Given the description of an element on the screen output the (x, y) to click on. 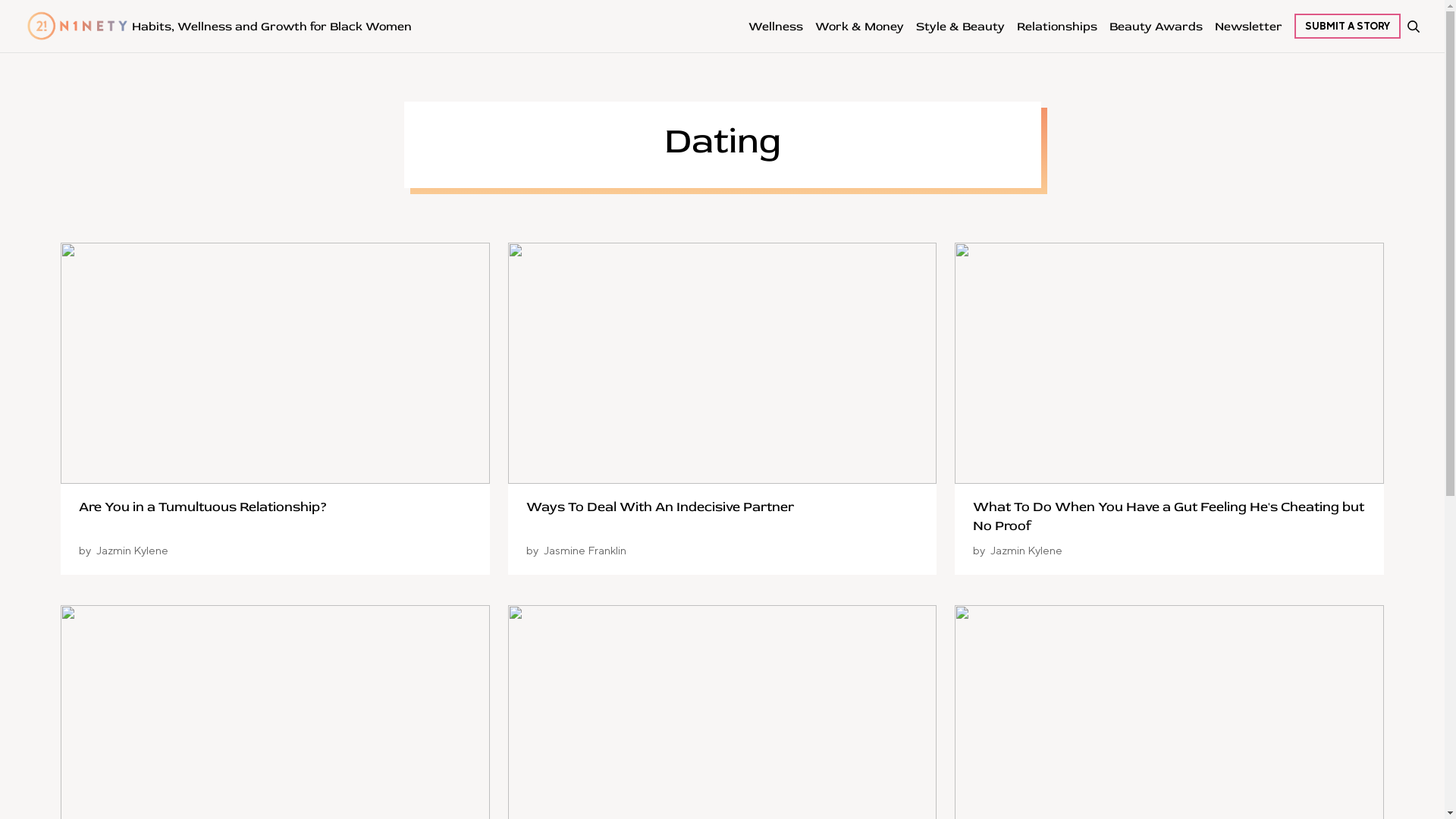
Newsletter Element type: text (1248, 25)
Beauty Awards Element type: text (1155, 25)
Wellness Element type: text (775, 25)
Work & Money Element type: text (859, 25)
Jazmin Kylene Element type: text (132, 549)
Jazmin Kylene Element type: text (1026, 549)
SUBMIT A STORY Element type: text (1347, 25)
Jasmine Franklin Element type: text (584, 549)
Relationships Element type: text (1056, 25)
Style & Beauty Element type: text (960, 25)
